Given the description of an element on the screen output the (x, y) to click on. 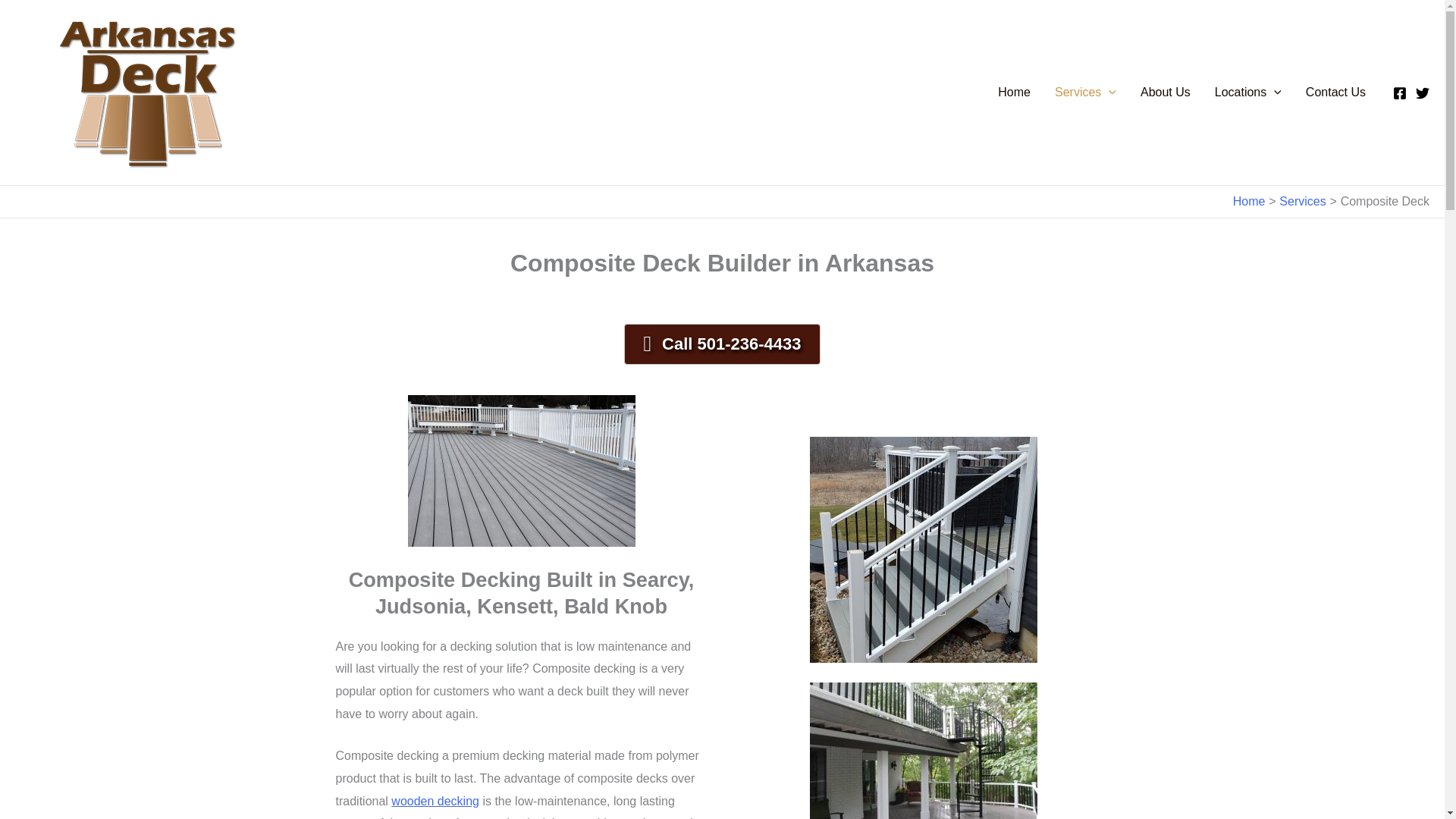
Locations (1248, 92)
Contact Us (1335, 92)
Home (1013, 92)
About Us (1165, 92)
Services (1085, 92)
